Given the description of an element on the screen output the (x, y) to click on. 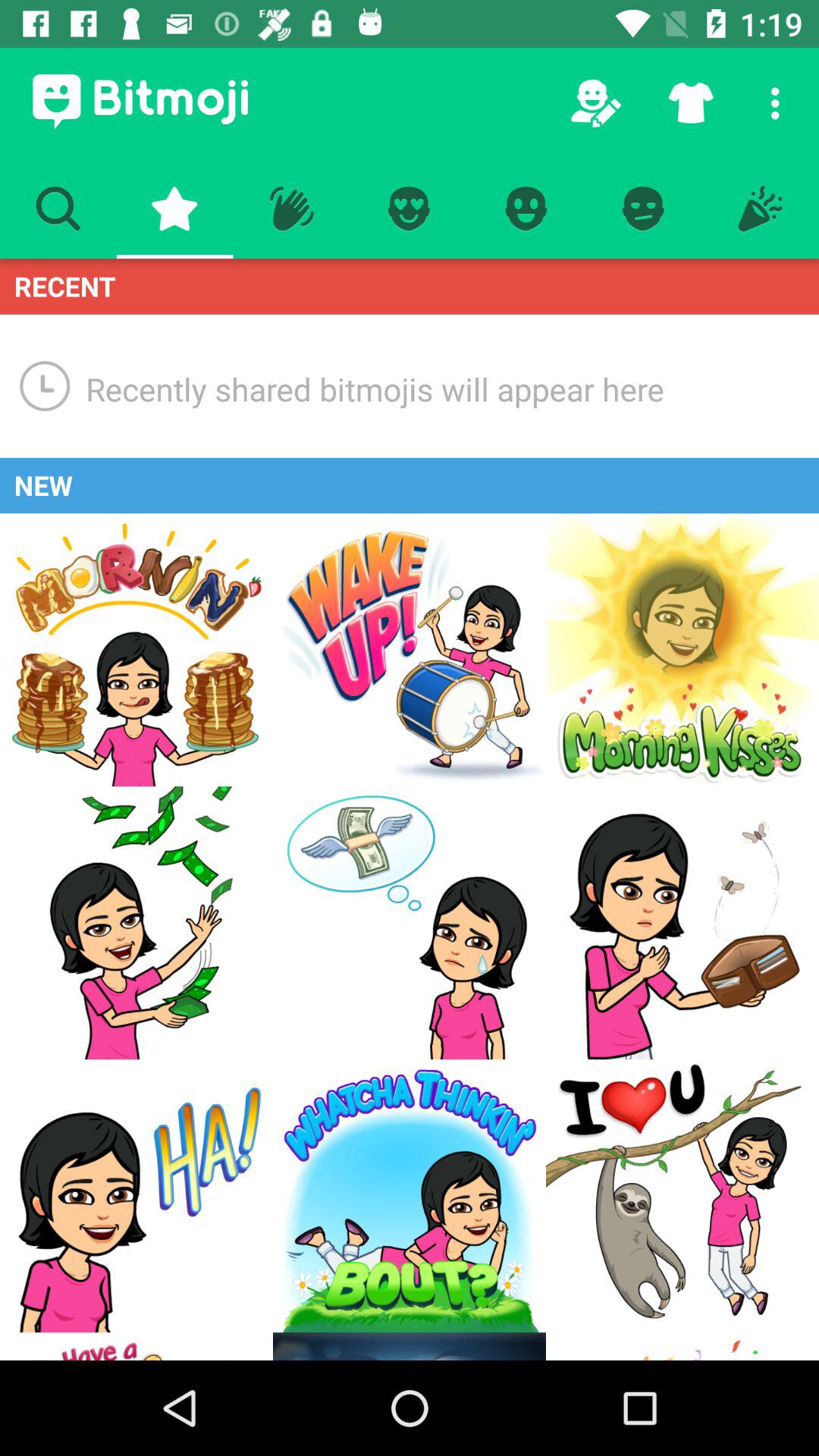
select bitmoji (682, 1195)
